Given the description of an element on the screen output the (x, y) to click on. 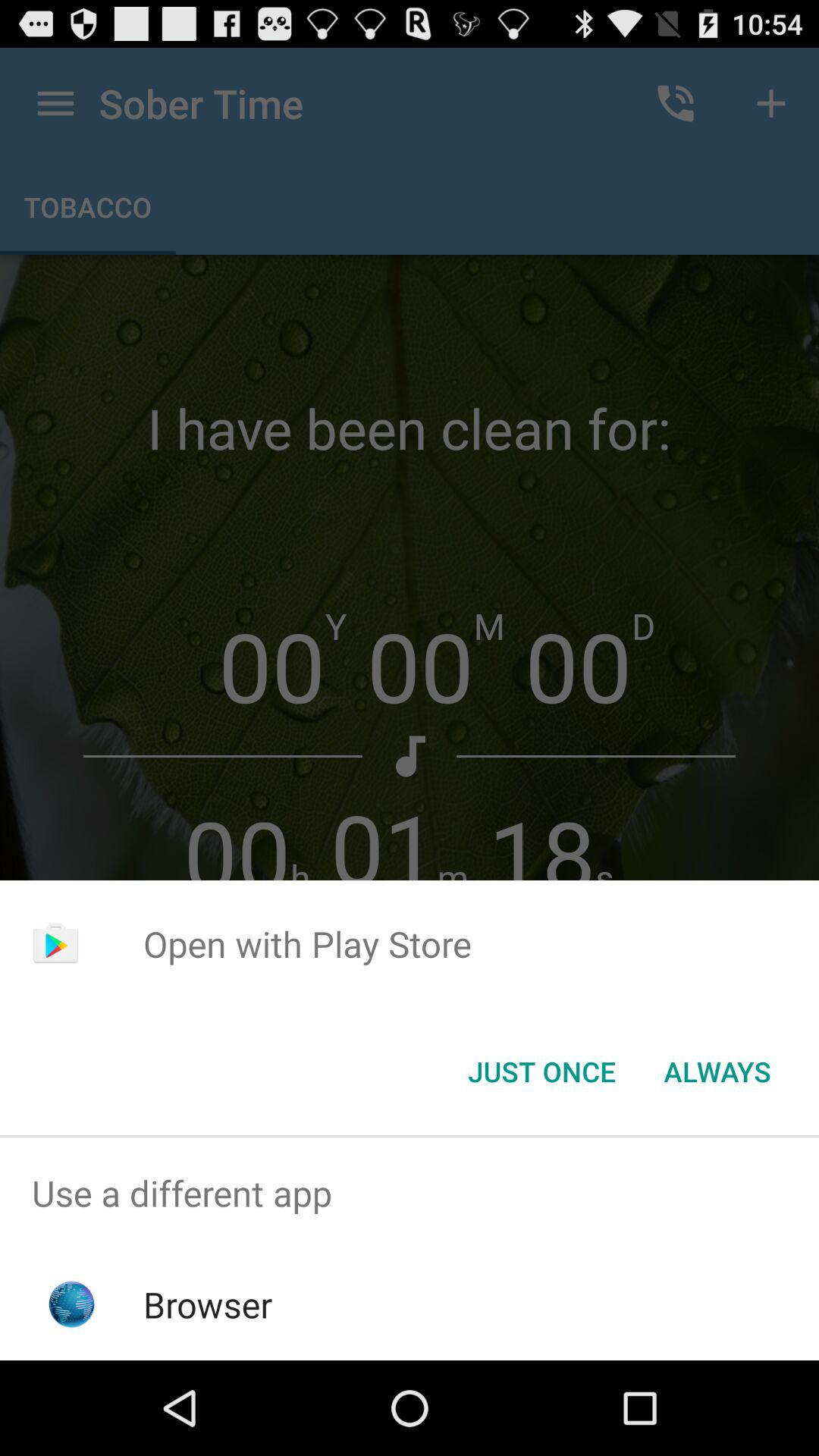
launch item above browser app (409, 1192)
